Given the description of an element on the screen output the (x, y) to click on. 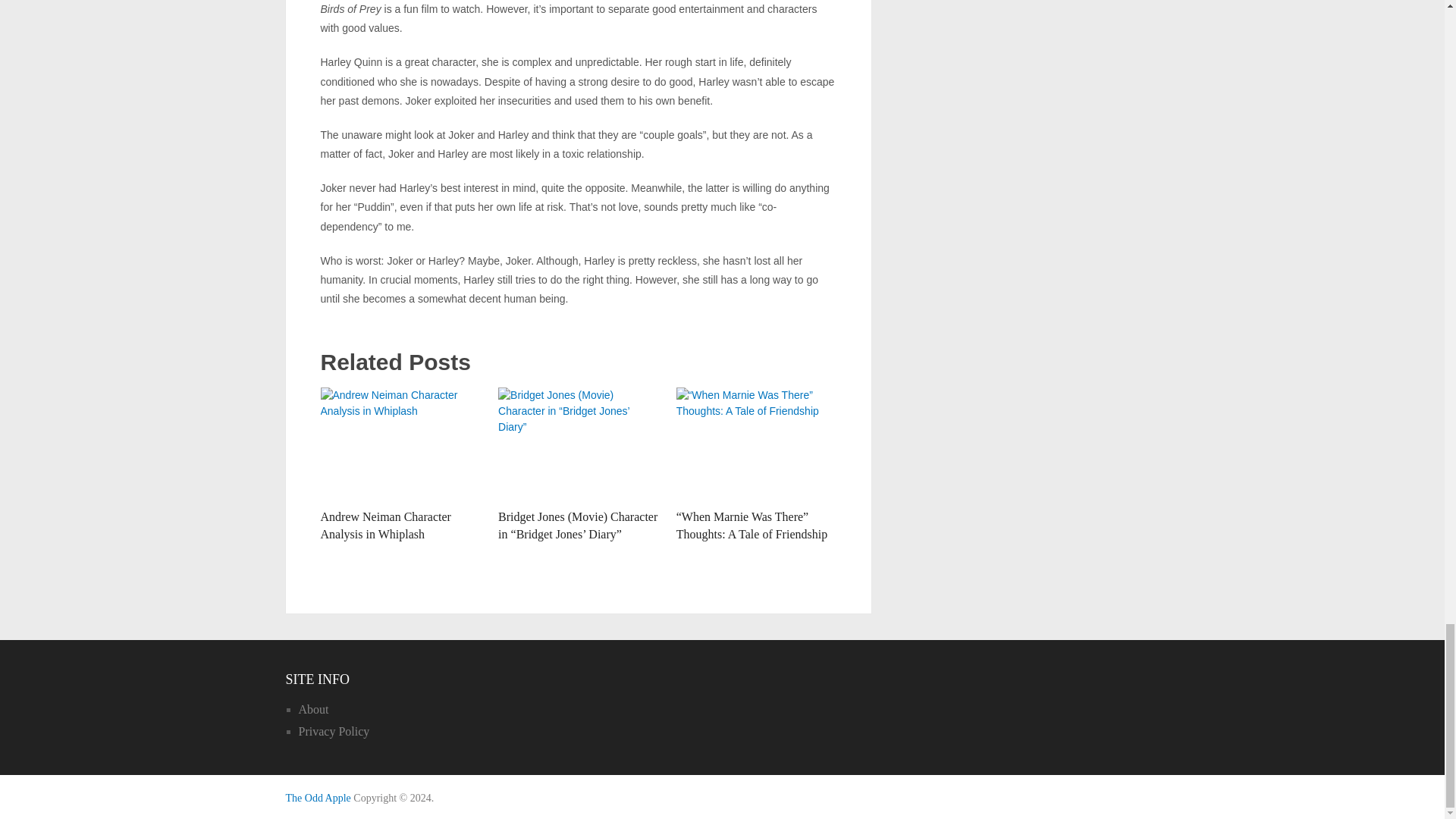
Andrew Neiman Character Analysis in Whiplash (400, 444)
About (313, 708)
Andrew Neiman Character Analysis in Whiplash (384, 524)
Andrew Neiman Character Analysis in Whiplash (384, 524)
Privacy Policy (333, 730)
The Odd Apple (317, 797)
